Given the description of an element on the screen output the (x, y) to click on. 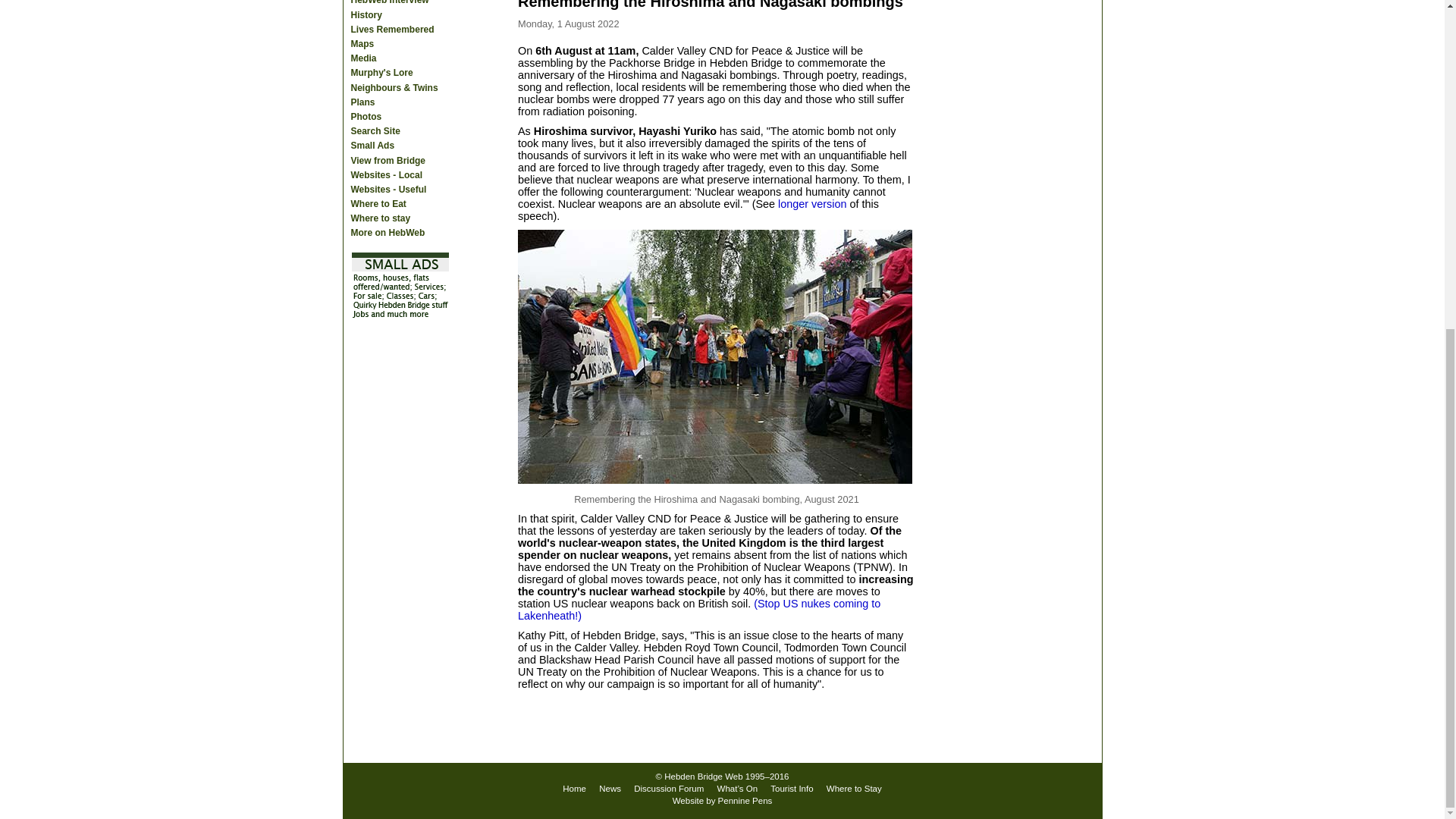
Discussion Forum (668, 788)
Media (403, 58)
Lives Remembered (403, 29)
Small Ads (403, 145)
media (403, 73)
history (403, 15)
Search Site (403, 131)
Where to Eat (403, 204)
Home (574, 788)
Interview (403, 3)
HebWeb Interview (403, 3)
Maps (403, 43)
More on HebWeb (403, 233)
neighbours (403, 88)
History (403, 15)
